Given the description of an element on the screen output the (x, y) to click on. 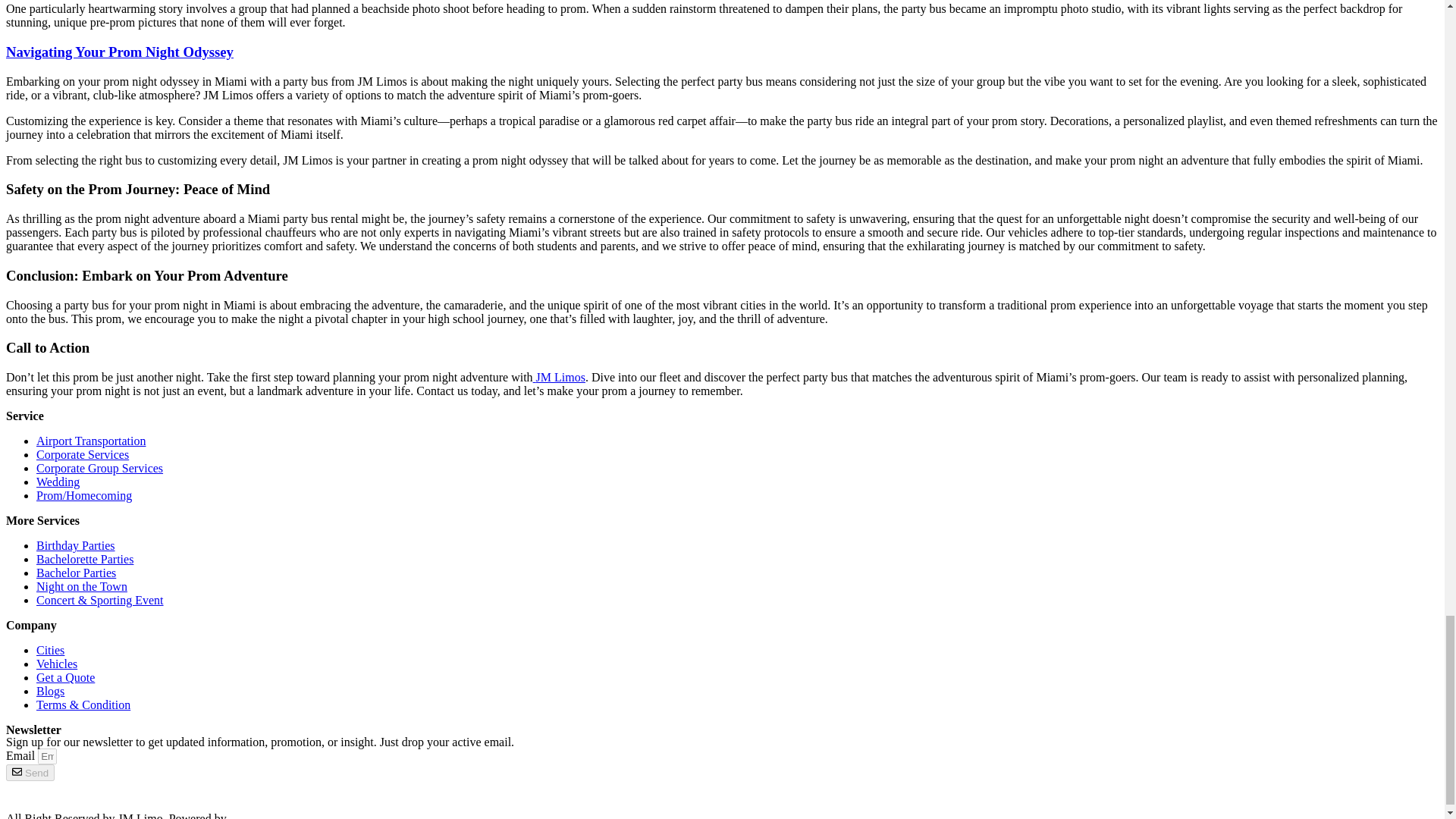
Corporate Group Services (99, 468)
Cities (50, 649)
Bachelor Parties (76, 572)
Vehicles (56, 663)
Bachelorette Parties (84, 558)
Birthday Parties (75, 545)
Get a Quote (65, 676)
Navigating Your Prom Night Odyssey (118, 51)
Corporate Services (82, 454)
JM Limos (558, 377)
Best Limo Service (721, 797)
Blogs (50, 690)
Wedding (58, 481)
Airport Transportation (90, 440)
Night on the Town (82, 585)
